Given the description of an element on the screen output the (x, y) to click on. 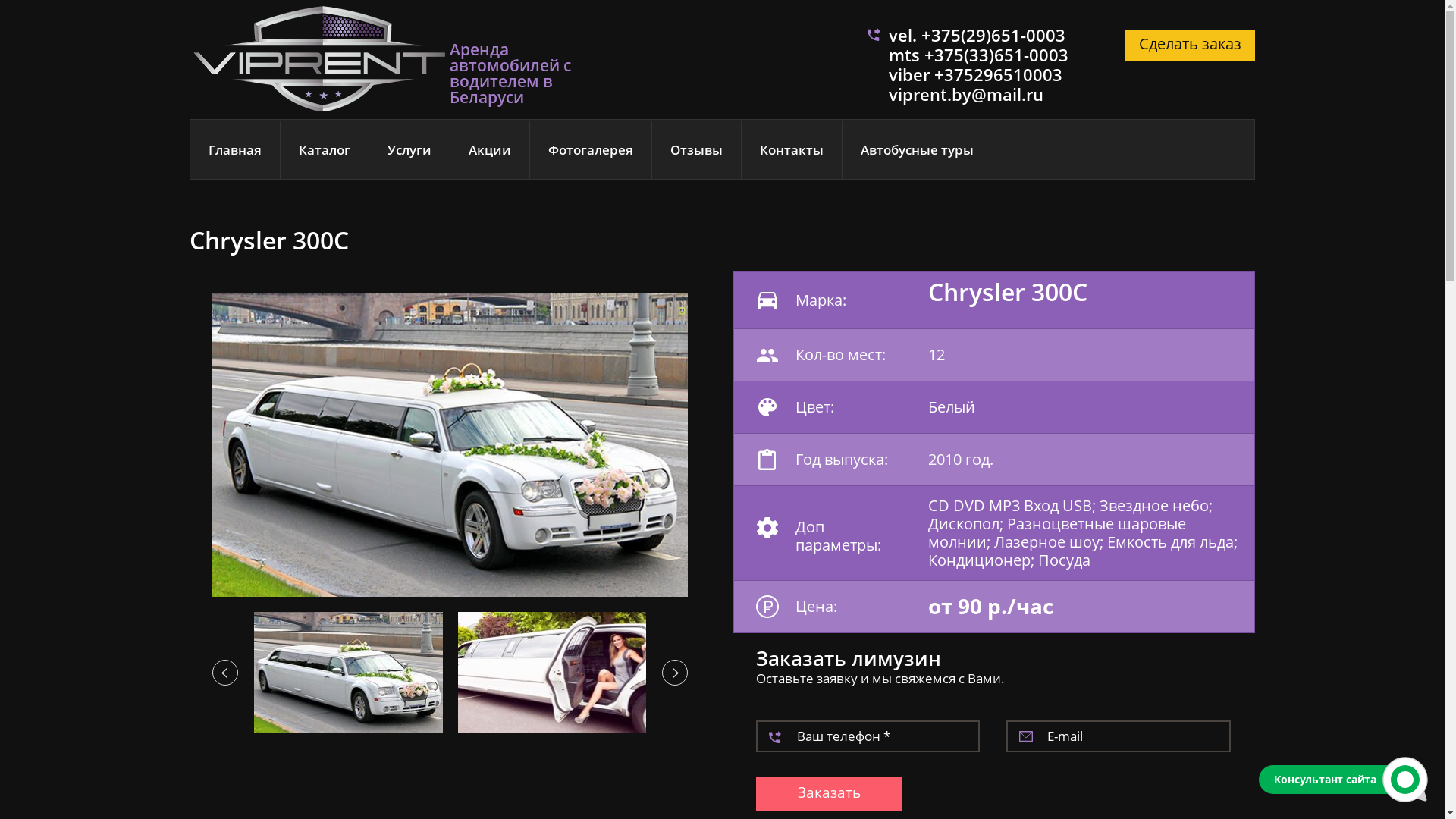
mts +375(33)651-0003 Element type: text (978, 54)
viprent.by@mail.ru Element type: text (965, 93)
viber +375296510003 Element type: text (975, 73)
vel. +375(29)651-0003 Element type: text (976, 34)
Prev Element type: text (225, 672)
Next Element type: text (674, 672)
